Given the description of an element on the screen output the (x, y) to click on. 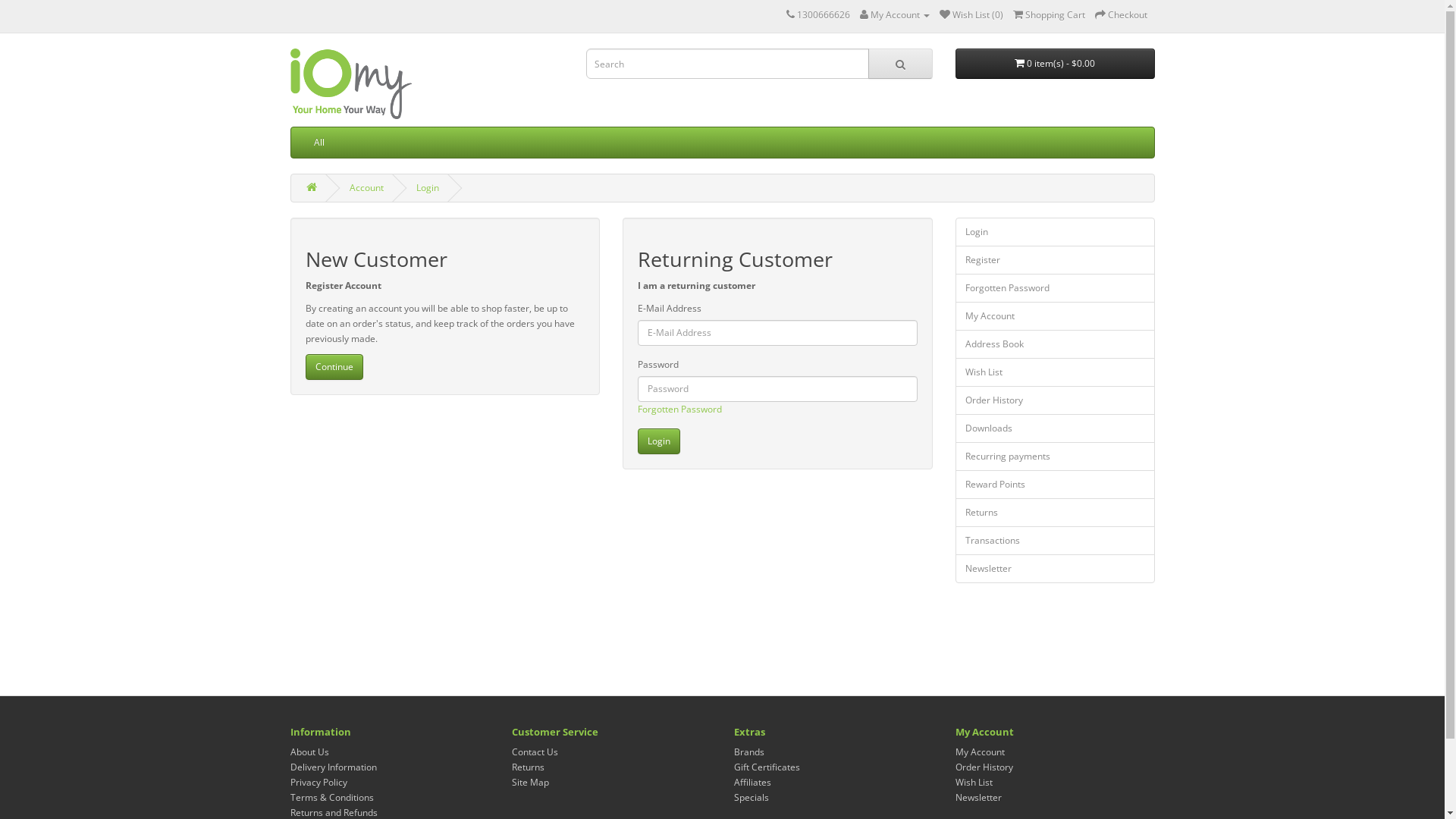
Order History Element type: text (1054, 399)
My Account Element type: text (979, 751)
Address Book Element type: text (1054, 343)
Contact Us Element type: text (534, 751)
Login Element type: text (426, 187)
Privacy Policy Element type: text (317, 781)
Wish List Element type: text (973, 781)
Account Element type: text (365, 187)
Login Element type: text (1054, 231)
All Element type: text (318, 142)
Forgotten Password Element type: text (679, 408)
Login Element type: text (658, 441)
Returns Element type: text (1054, 512)
Returns Element type: text (527, 766)
Brands Element type: text (749, 751)
My Account Element type: text (1054, 315)
Recurring payments Element type: text (1054, 456)
Checkout Element type: text (1121, 14)
Reward Points Element type: text (1054, 484)
Delivery Information Element type: text (332, 766)
Terms & Conditions Element type: text (331, 796)
Site Map Element type: text (530, 781)
Gift Certificates Element type: text (767, 766)
Specials Element type: text (751, 796)
Newsletter Element type: text (1054, 568)
iOmy Element type: hover (350, 83)
Wish List Element type: text (1054, 371)
Newsletter Element type: text (978, 796)
Affiliates Element type: text (752, 781)
Forgotten Password Element type: text (1054, 287)
0 item(s) - $0.00 Element type: text (1054, 63)
Continue Element type: text (333, 366)
About Us Element type: text (308, 751)
Downloads Element type: text (1054, 428)
Register Element type: text (1054, 259)
My Account Element type: text (894, 14)
Order History Element type: text (984, 766)
Wish List (0) Element type: text (970, 14)
Transactions Element type: text (1054, 540)
Shopping Cart Element type: text (1049, 14)
